Given the description of an element on the screen output the (x, y) to click on. 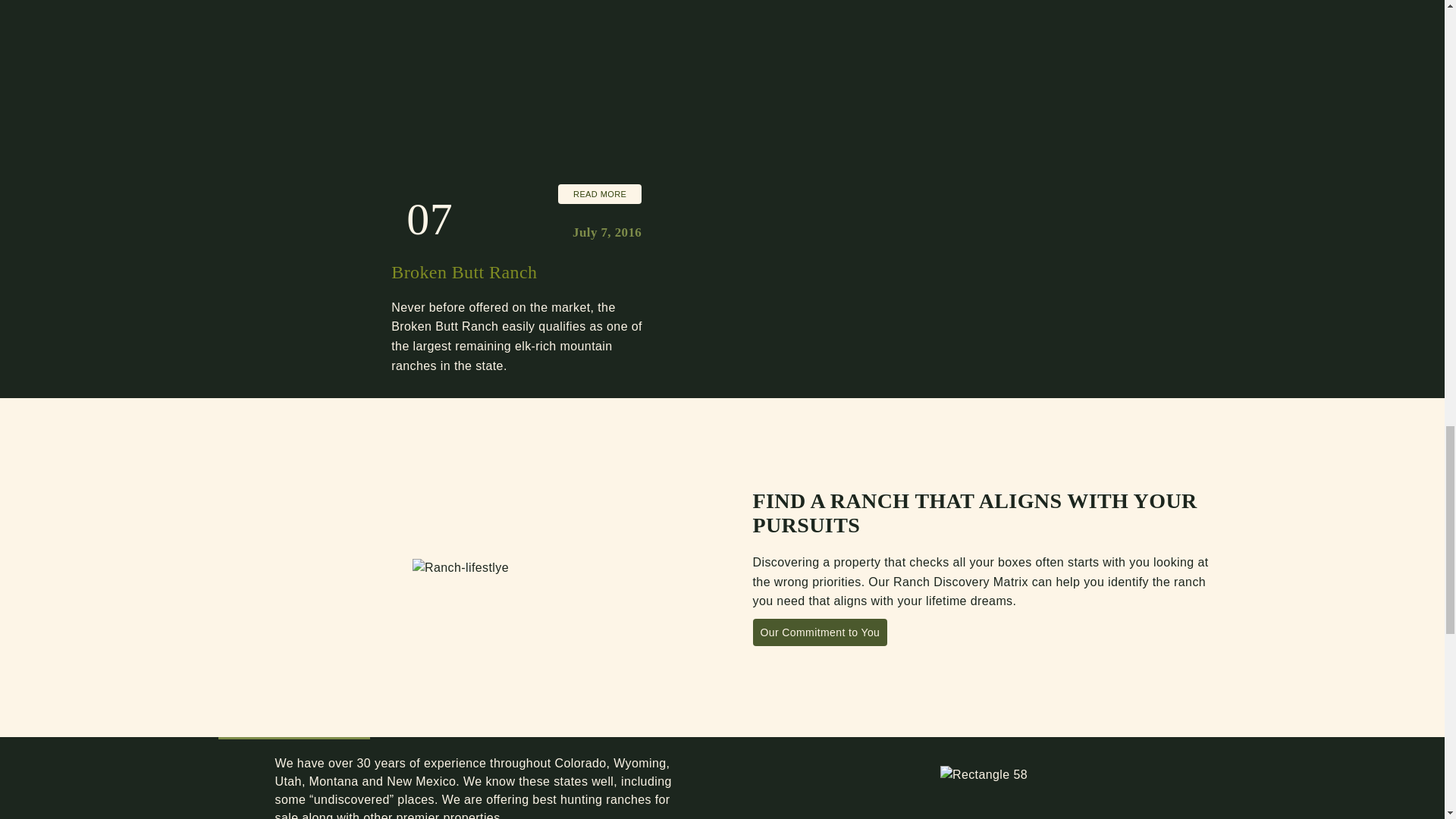
READ MORE (599, 193)
